Given the description of an element on the screen output the (x, y) to click on. 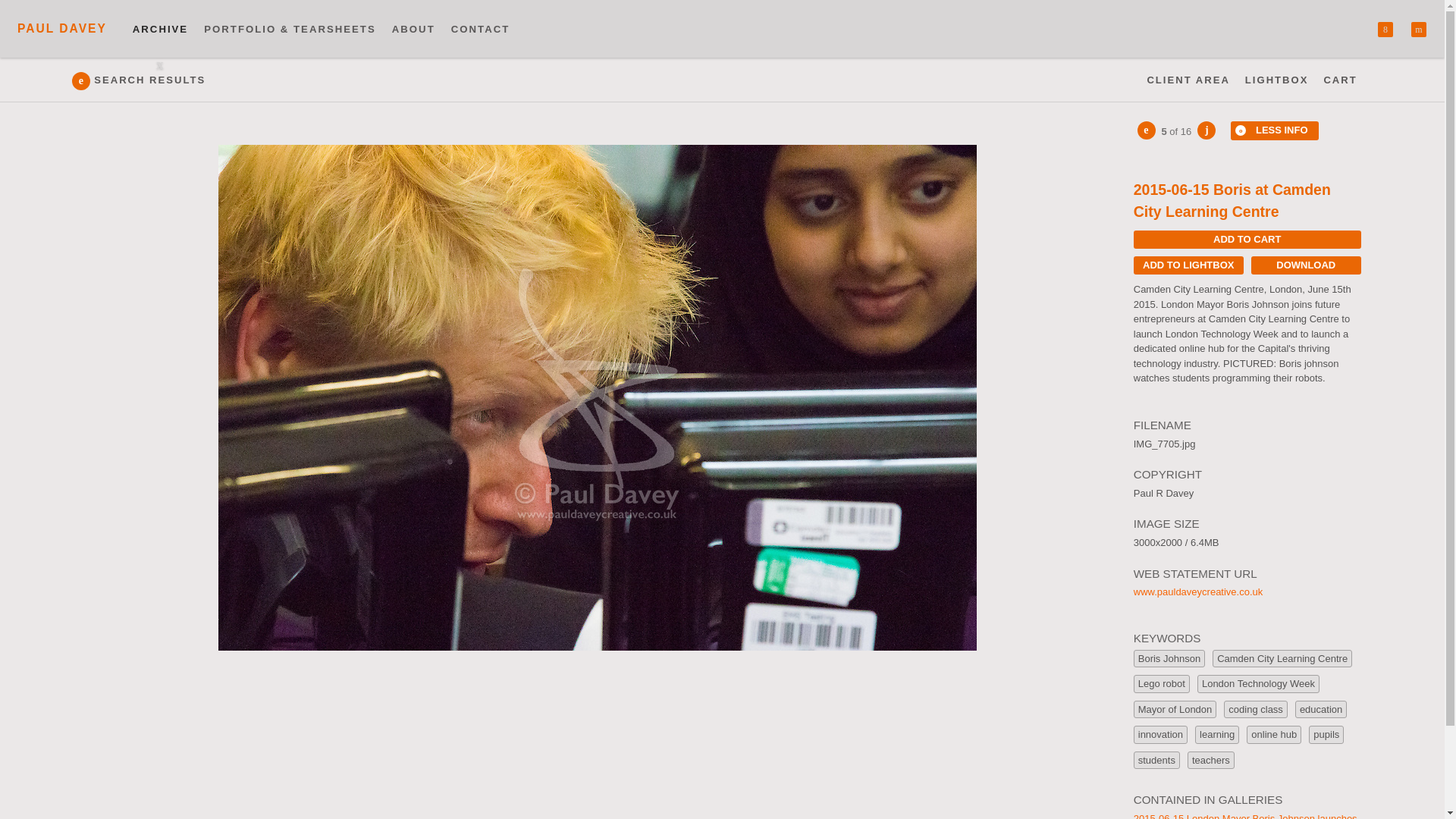
Boris Johnson (1169, 659)
CLIENT AREA (1187, 80)
online hub (1273, 734)
ADD TO CART (1247, 239)
learning (1217, 734)
Lego robot (1161, 683)
Info (1274, 130)
pupils (1325, 734)
DOWNLOAD (1305, 265)
x (1385, 29)
Add to Cart (1247, 239)
innovation (1161, 734)
PAUL DAVEY (61, 28)
LIGHTBOX (1276, 80)
CONTACT (480, 28)
